Given the description of an element on the screen output the (x, y) to click on. 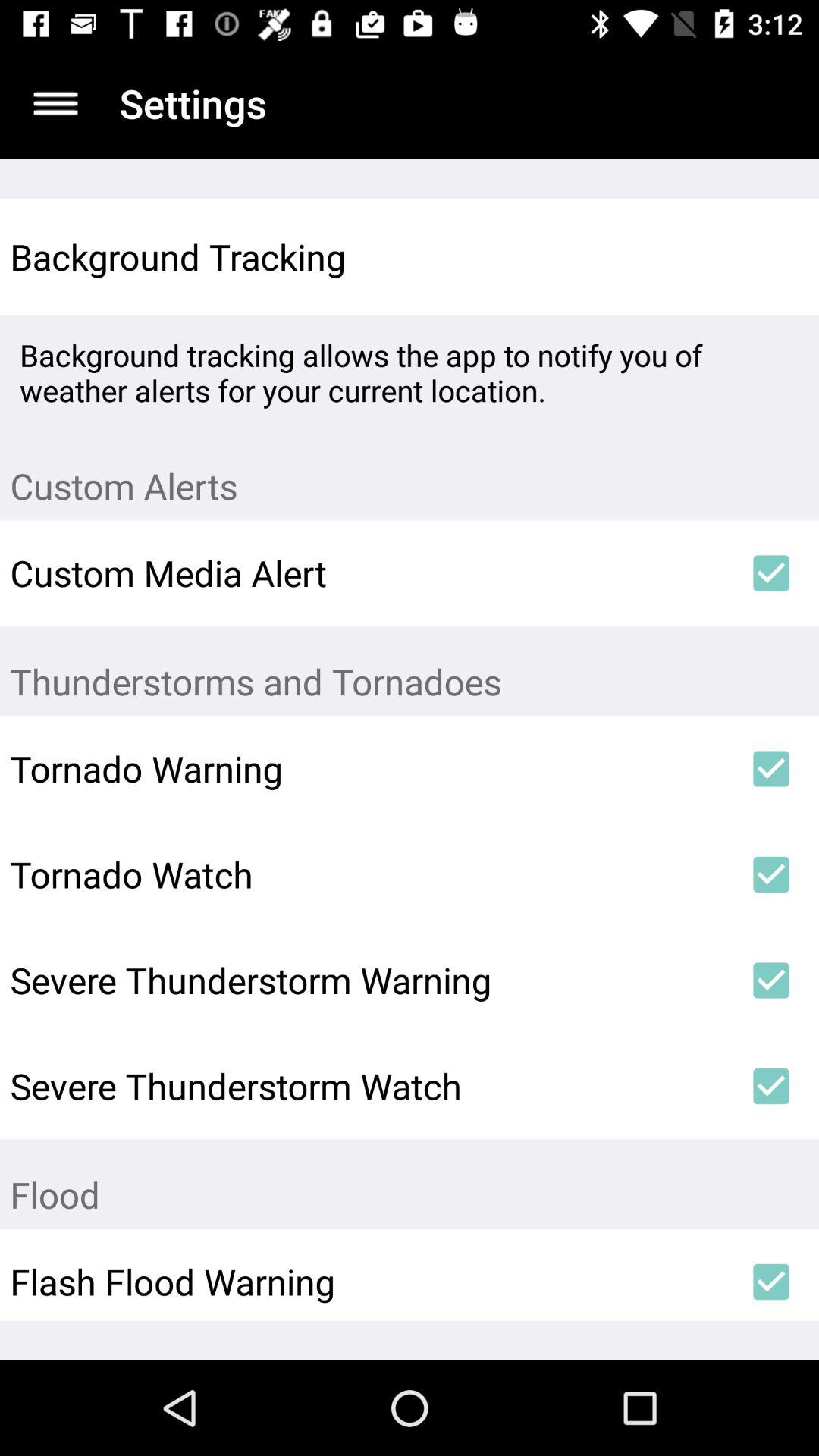
choose item below the thunderstorms and tornadoes (771, 768)
